Given the description of an element on the screen output the (x, y) to click on. 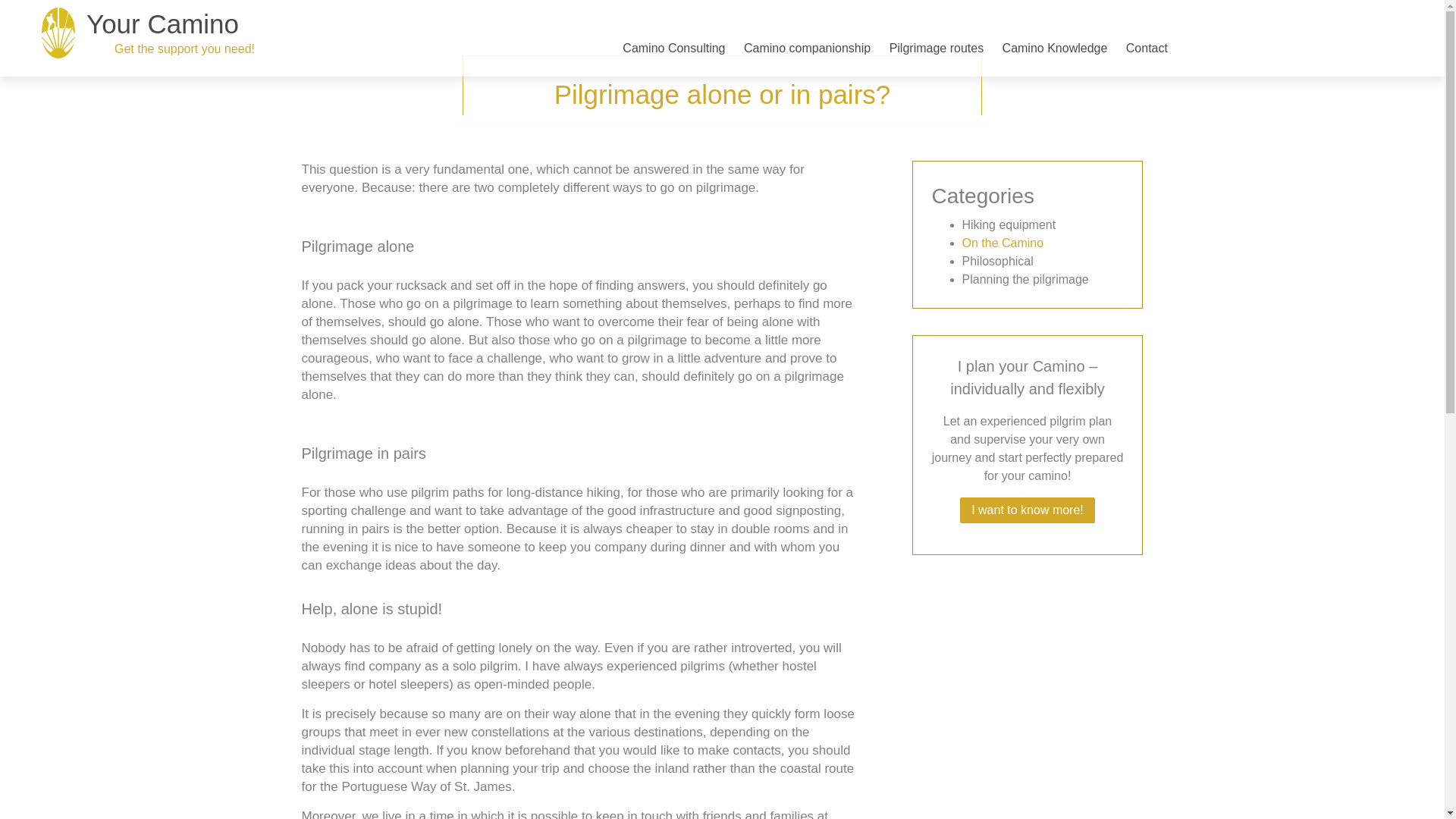
Planning the pilgrimage (1023, 278)
Pilgrimage routes (936, 36)
On the Camino (1001, 242)
Camino companionship (807, 36)
Contact (1146, 36)
Camino Knowledge (1055, 36)
I want to know more! (1026, 510)
Camino Consulting (674, 36)
Hiking equipment (1007, 224)
Philosophical (996, 260)
